Given the description of an element on the screen output the (x, y) to click on. 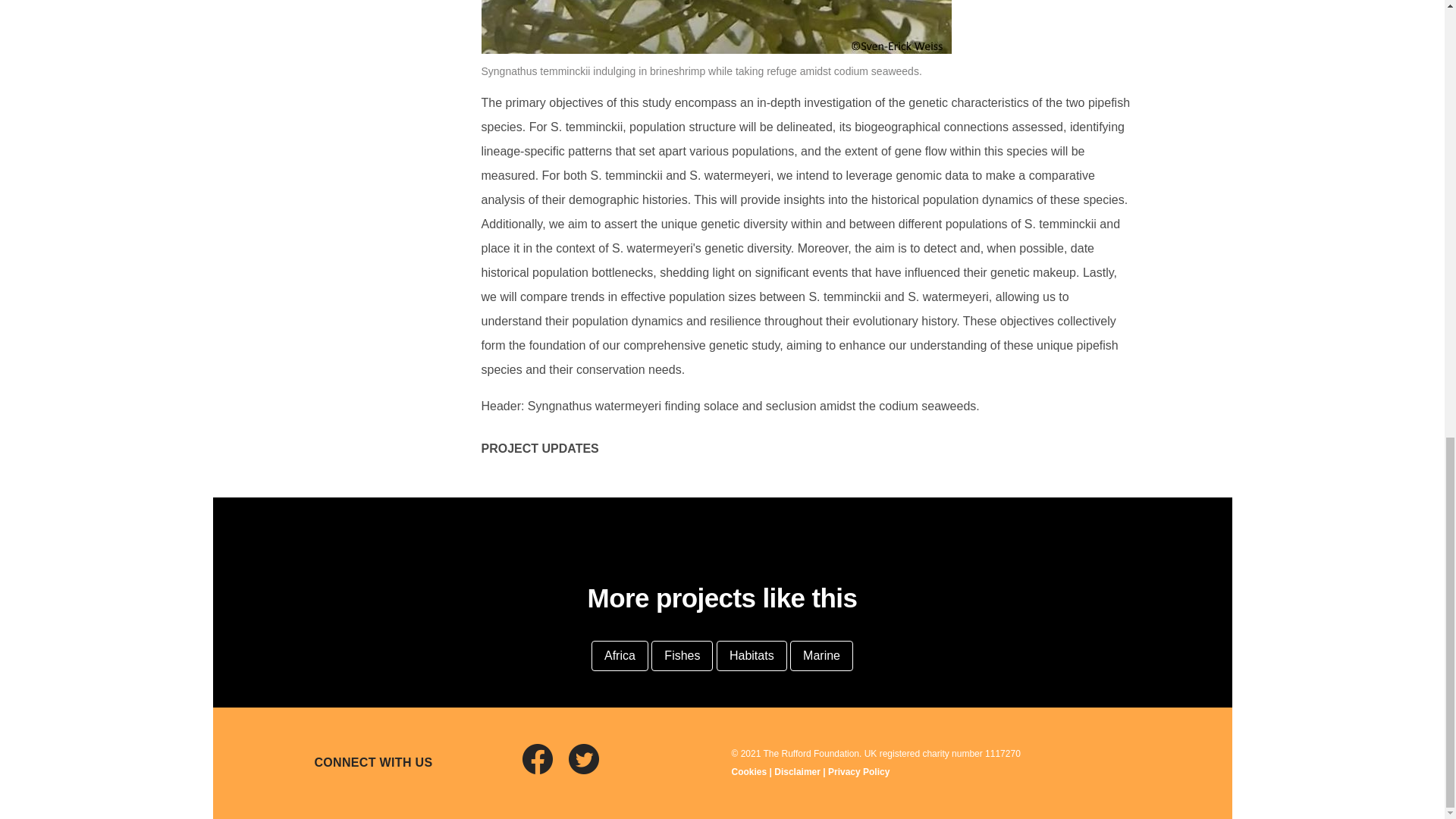
Africa (619, 655)
Cookies (748, 771)
Disclaimer (797, 771)
Fishes (681, 655)
Privacy Policy (858, 771)
Marine (821, 655)
The Rufford Foundation on Facebook (543, 769)
The Rufford Foundation on Twitter (590, 769)
Habitats (751, 655)
